Given the description of an element on the screen output the (x, y) to click on. 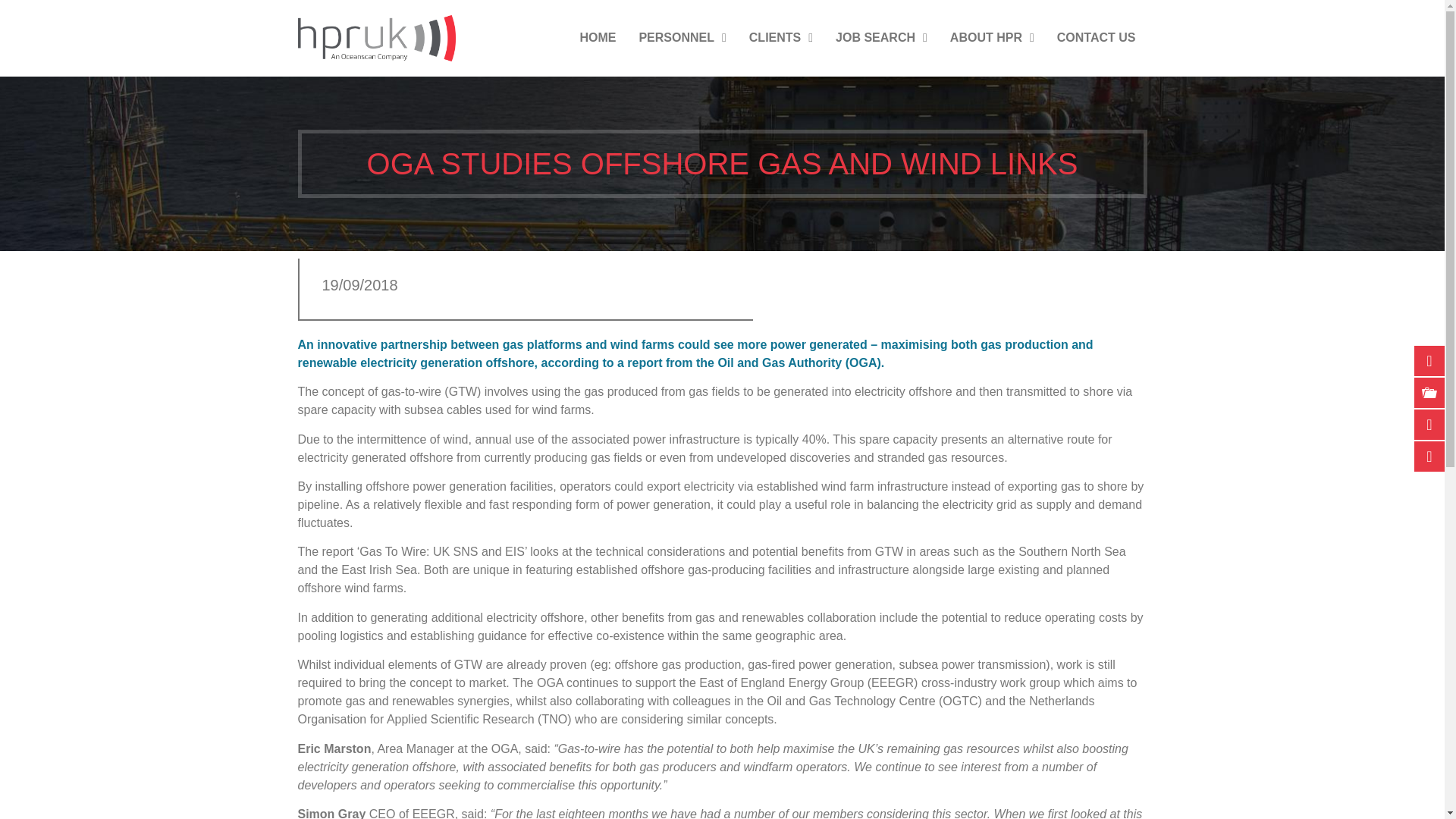
CLIENTS (781, 37)
ABOUT HPR (992, 37)
CONTACT US (1096, 37)
JOB SEARCH (881, 37)
HOME (597, 37)
PERSONNEL (681, 37)
